Given the description of an element on the screen output the (x, y) to click on. 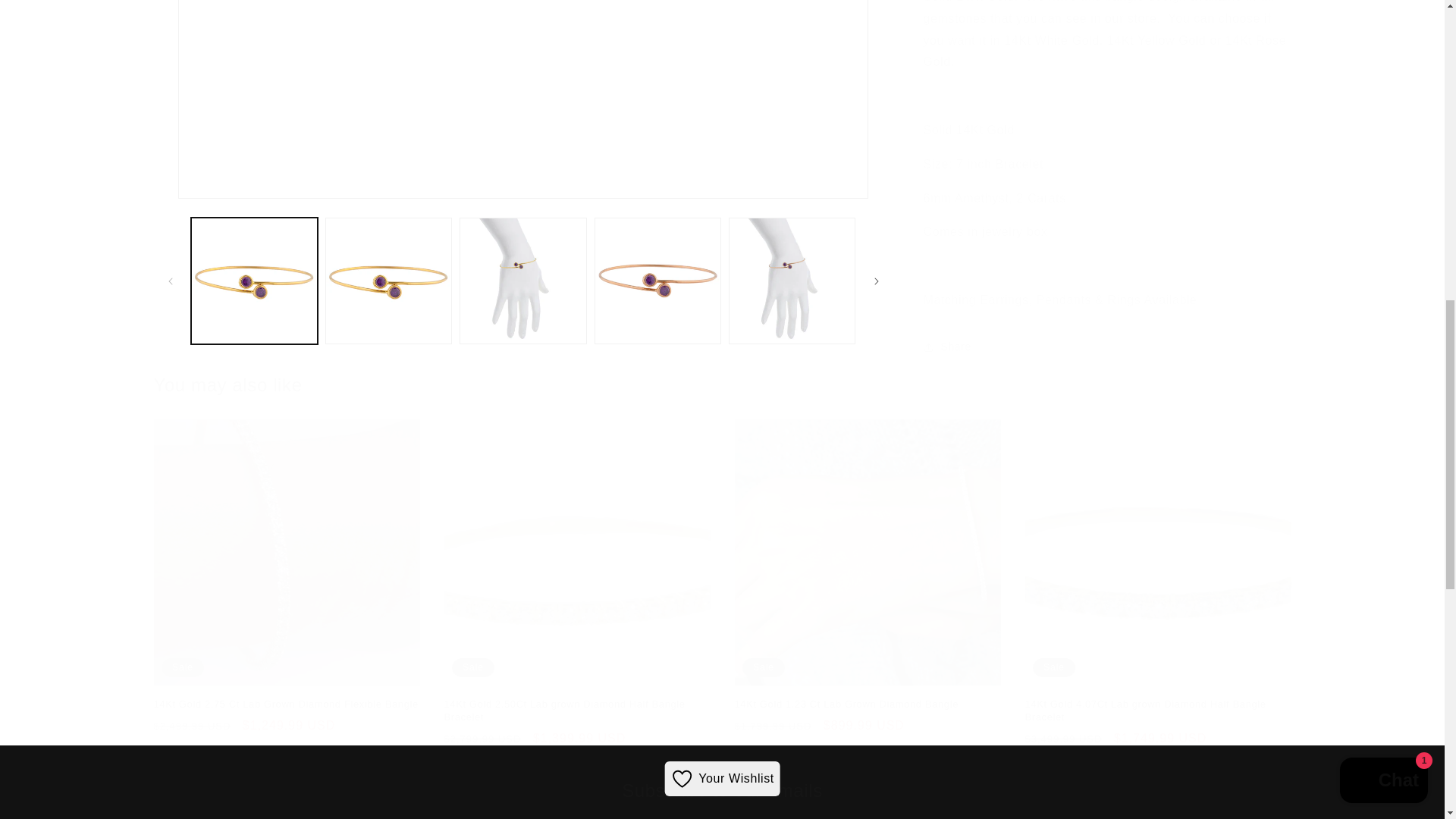
Subscribe to our emails (721, 790)
